Given the description of an element on the screen output the (x, y) to click on. 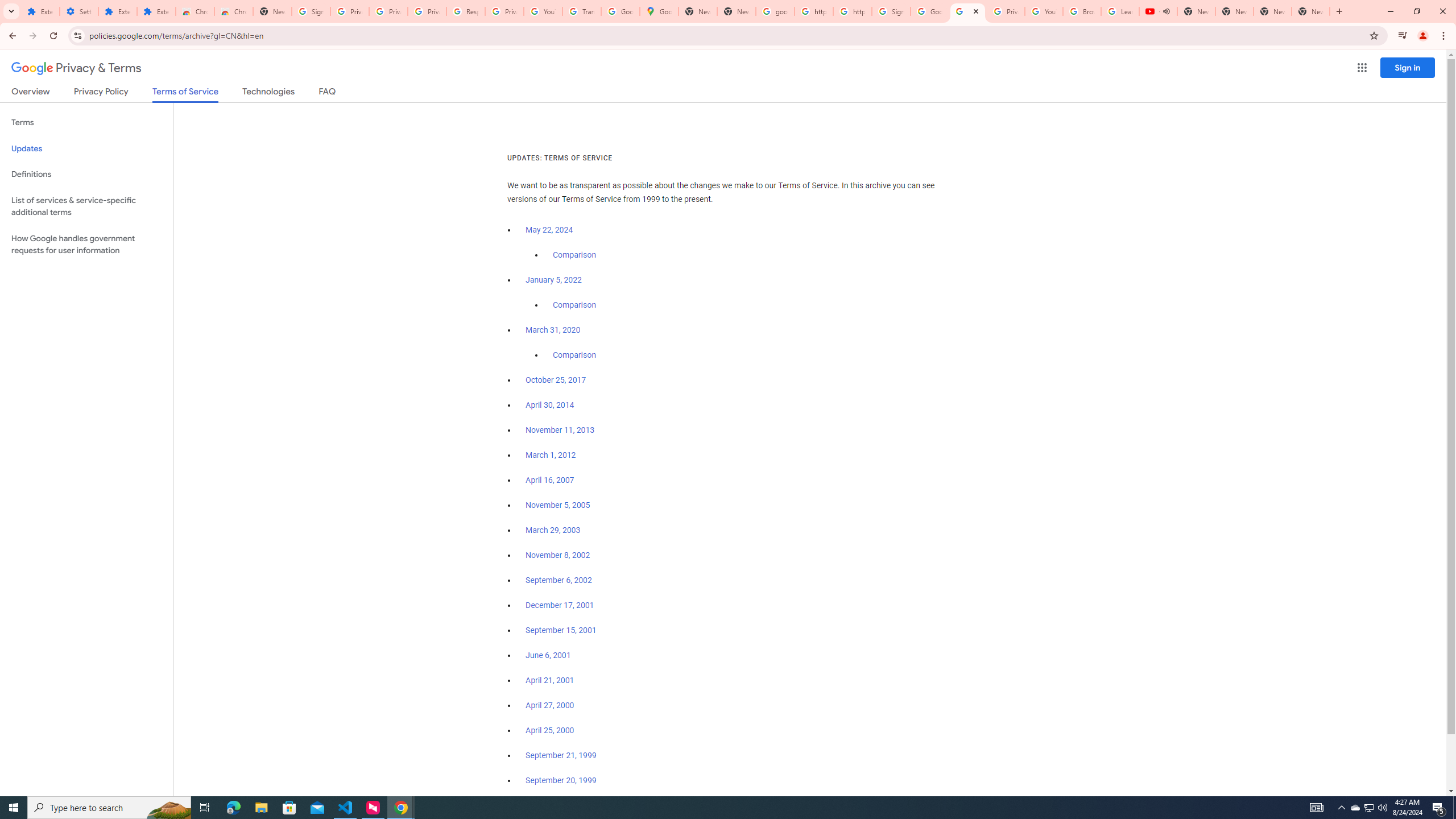
November 5, 2005 (557, 505)
April 30, 2014 (550, 405)
September 6, 2002 (558, 579)
Extensions (40, 11)
Comparison (574, 355)
